Given the description of an element on the screen output the (x, y) to click on. 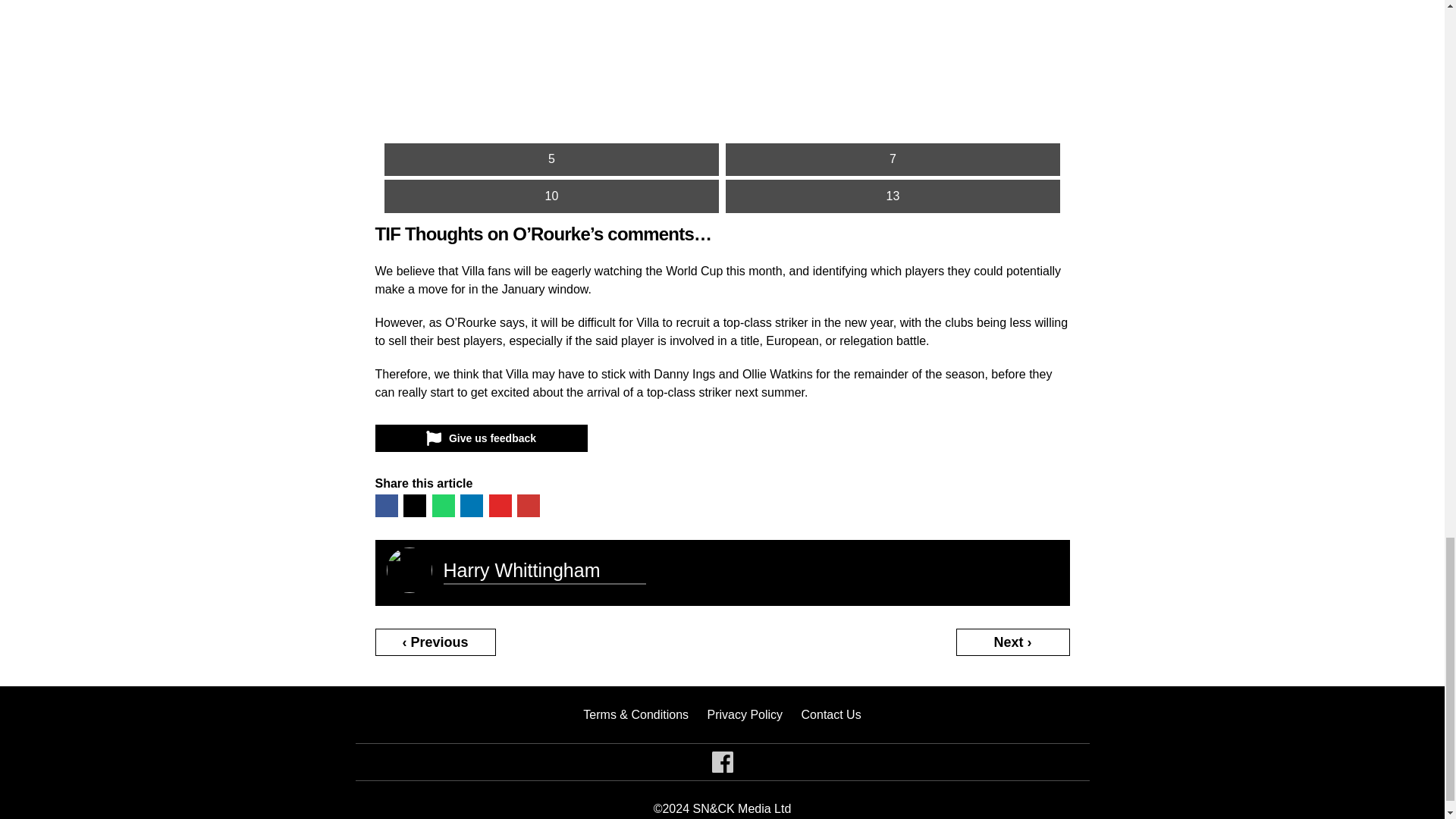
10 (551, 195)
13 (892, 195)
Give us feedback (480, 438)
13 (892, 195)
5 (551, 159)
share on Facebook (385, 505)
5 (551, 159)
7 (892, 159)
7 (892, 159)
10 (551, 195)
